Given the description of an element on the screen output the (x, y) to click on. 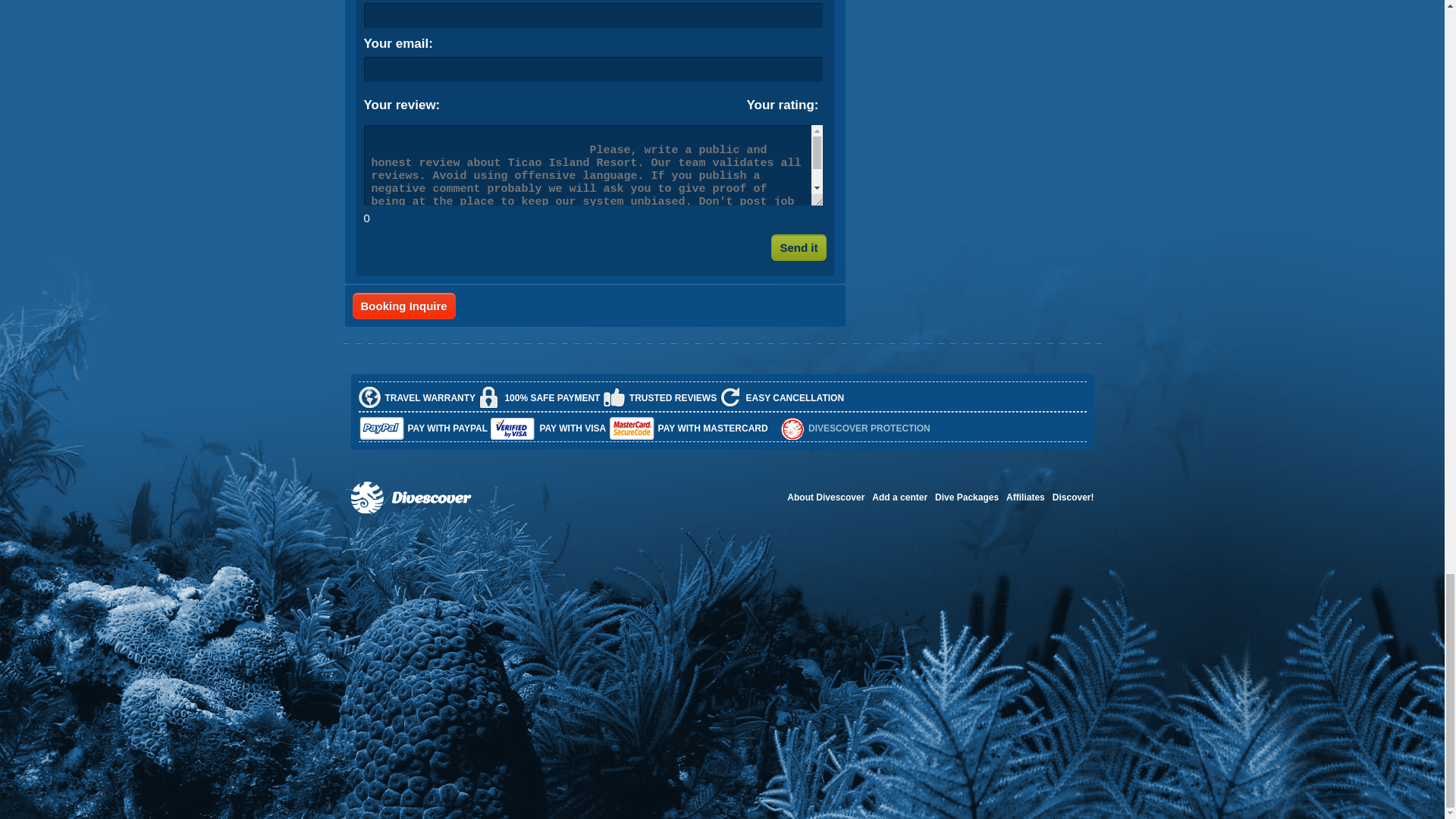
About Divescover (825, 497)
Affiliates (1025, 497)
Add a center (899, 497)
Discover! (1073, 497)
Dive Packages (966, 497)
DIVESCOVER PROTECTION (869, 428)
Send it (798, 247)
Booking Inquire (403, 305)
